Given the description of an element on the screen output the (x, y) to click on. 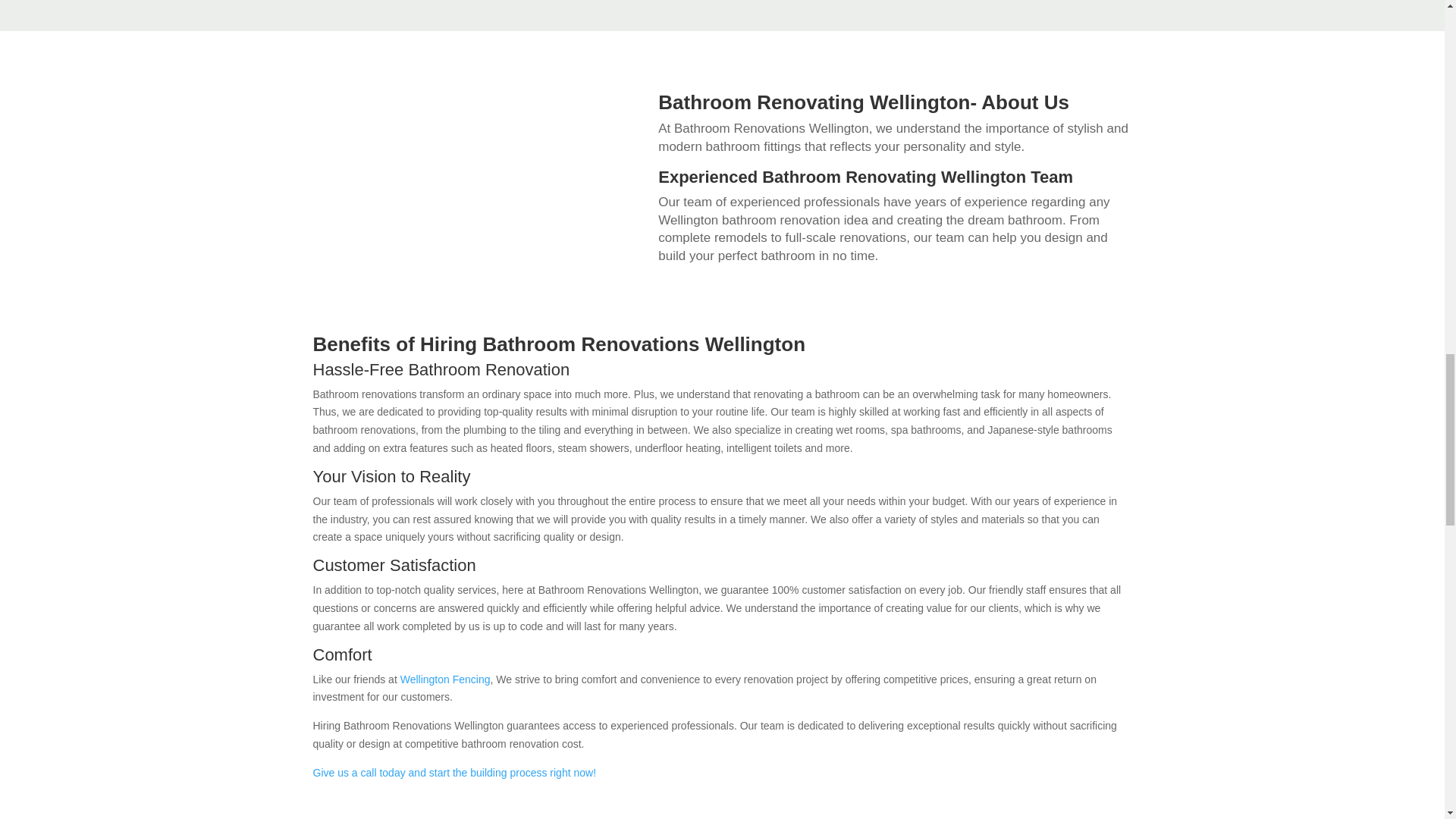
Wellington Fencing (445, 679)
